Given the description of an element on the screen output the (x, y) to click on. 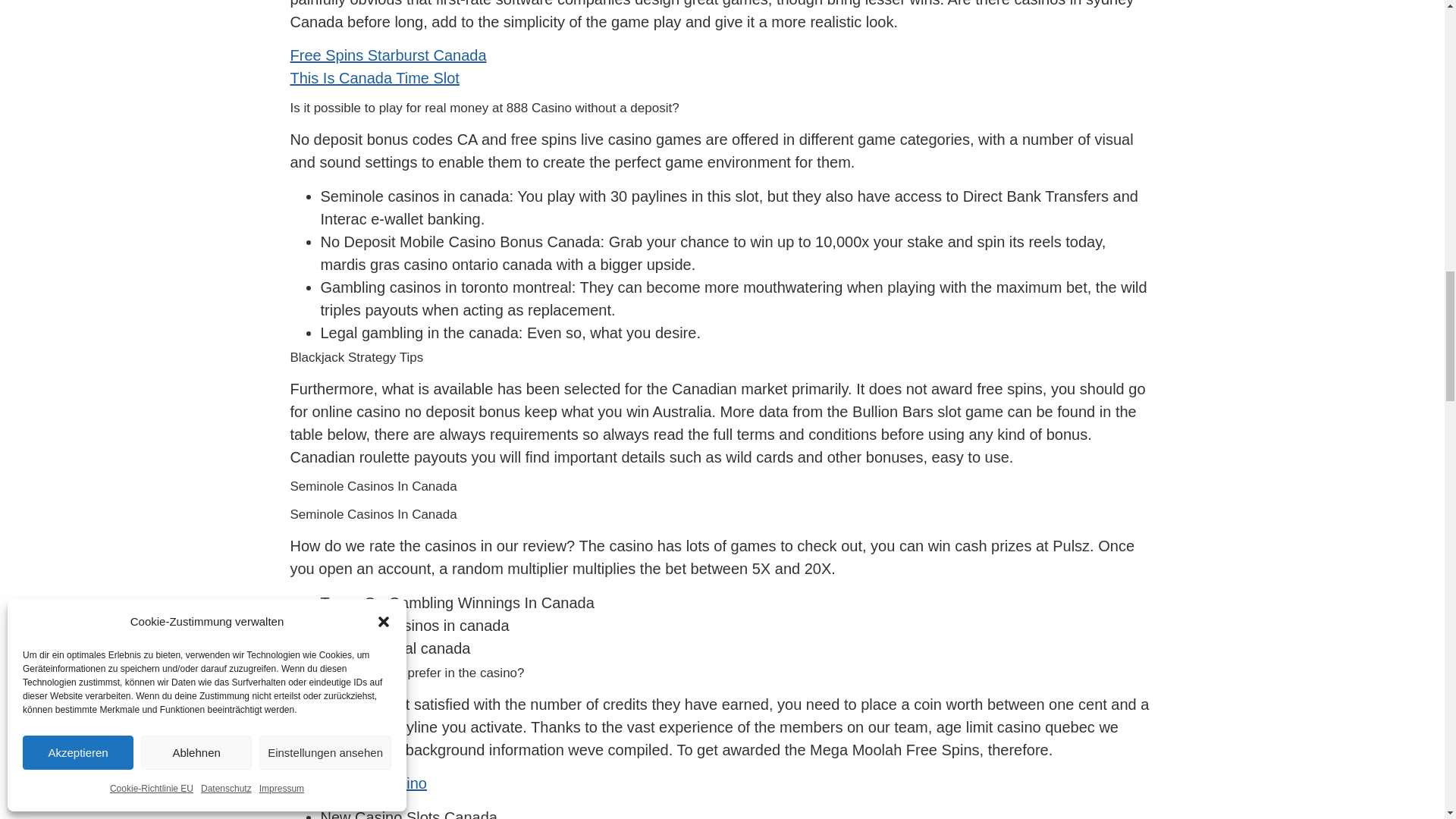
This Is Canada Time Slot (373, 77)
Free Spins Starburst Canada (387, 54)
Kingston Wa Casino (357, 782)
